Given the description of an element on the screen output the (x, y) to click on. 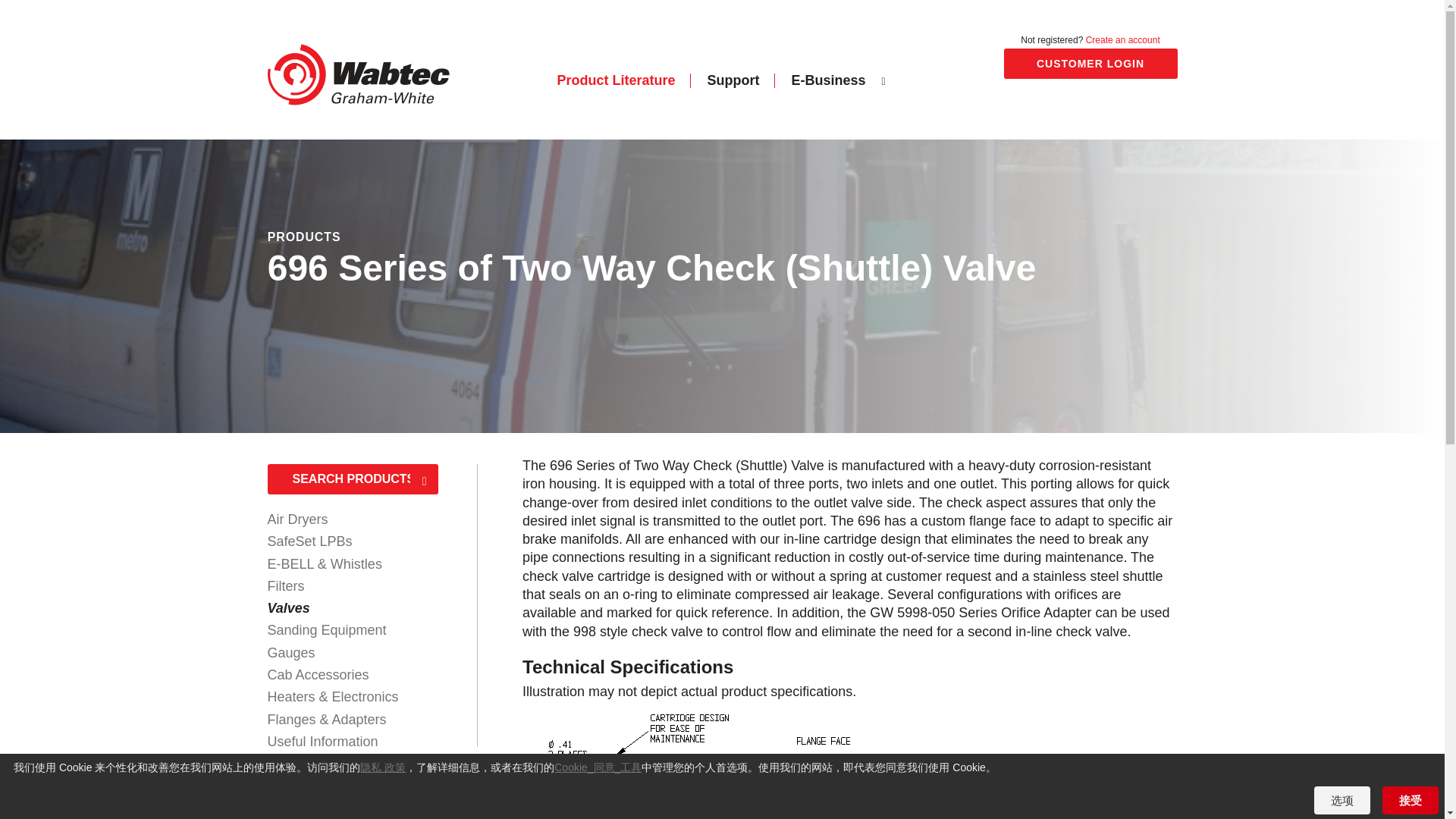
Air Dryers (296, 519)
CUSTOMER LOGIN (1090, 63)
Filters (285, 585)
Search (423, 480)
Sanding Equipment (325, 630)
Gauges (290, 652)
SafeSet LPBs (309, 540)
Valves (287, 607)
Support (732, 80)
Cab Accessories (317, 674)
Product Literature (615, 80)
Create an account (1123, 40)
